Given the description of an element on the screen output the (x, y) to click on. 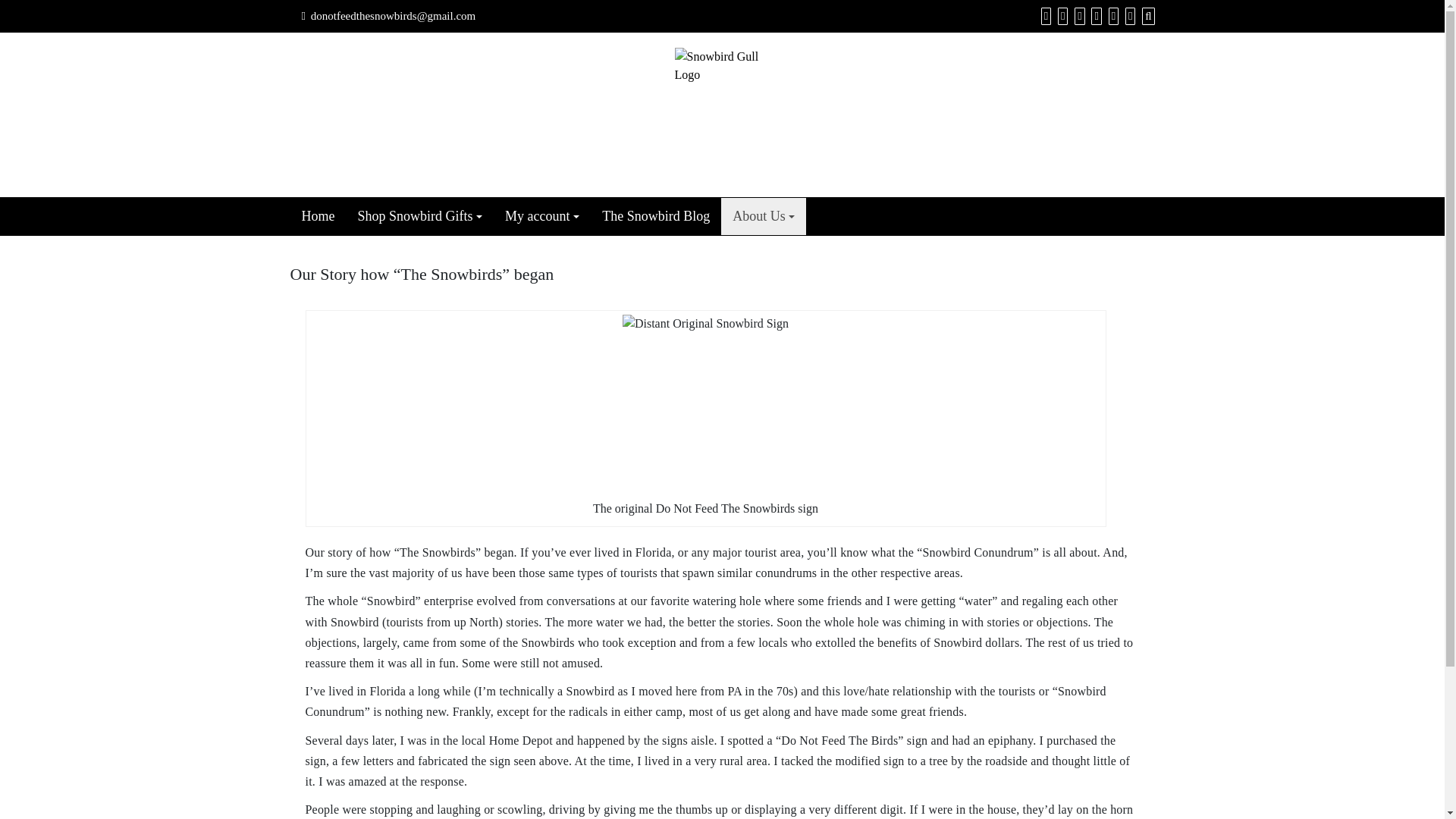
Instagram (1128, 15)
Facebook (1093, 15)
About Us (763, 216)
Cart (1060, 15)
Shop Snowbird Gifts (419, 216)
Twitter (1111, 15)
The Snowbird Blog (655, 216)
Shop (1043, 15)
My Account  (1077, 15)
Search (1146, 15)
